Given the description of an element on the screen output the (x, y) to click on. 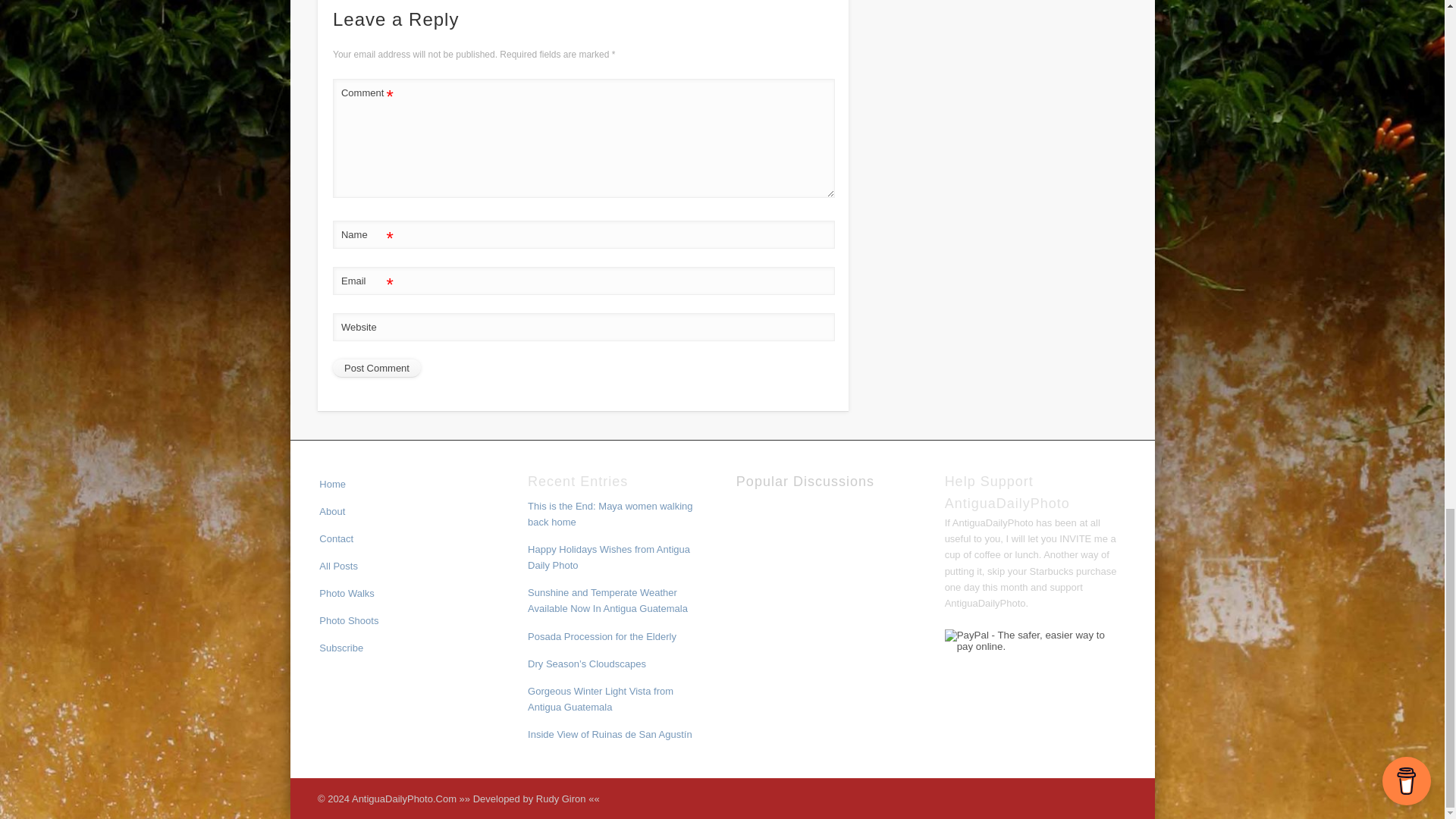
Post Comment (376, 368)
Post Comment (376, 368)
About (331, 511)
Home (332, 483)
